Given the description of an element on the screen output the (x, y) to click on. 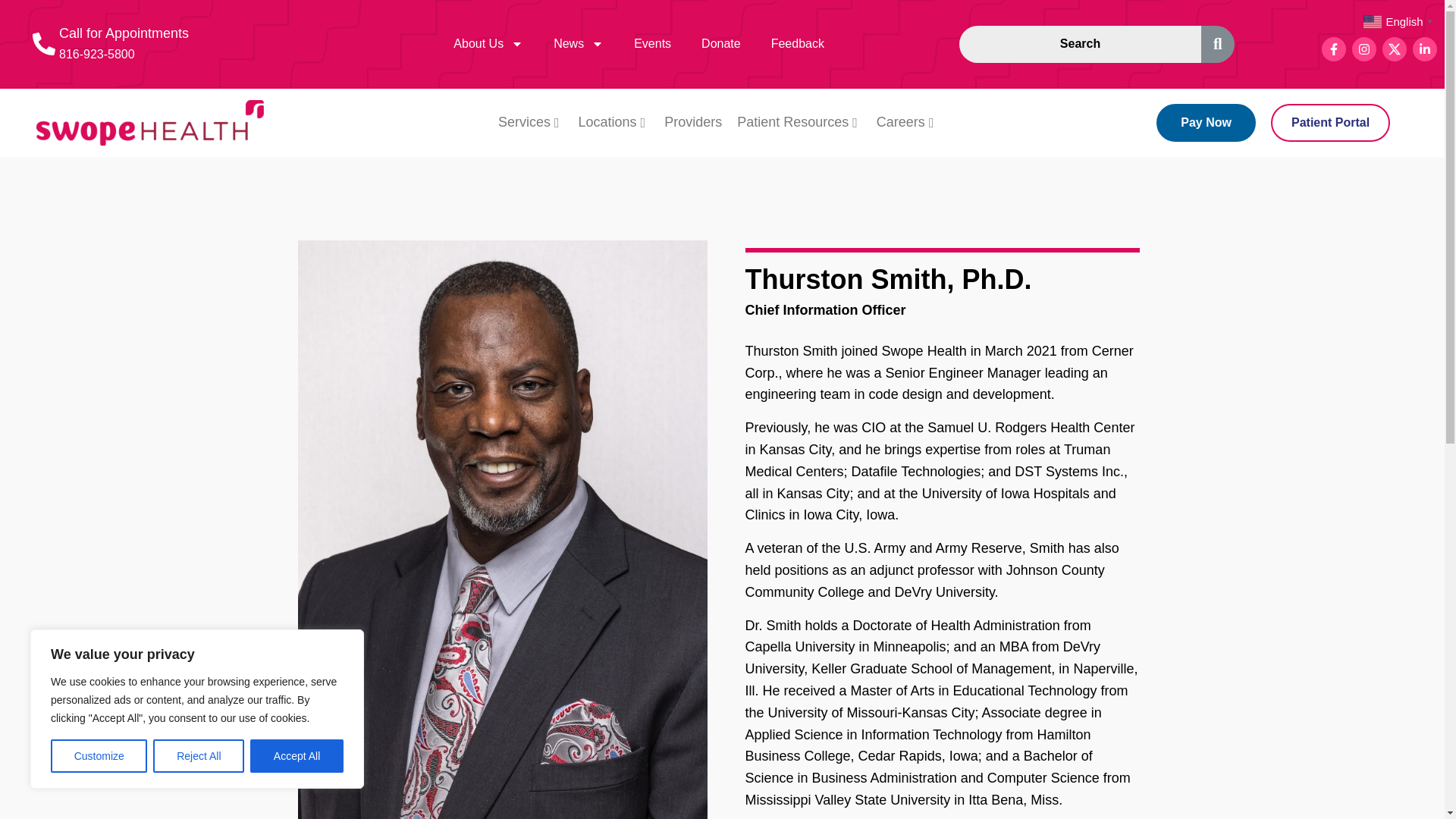
Customize (98, 756)
Call for Appointments (124, 32)
Reject All (198, 756)
Accept All (296, 756)
About Us (488, 44)
Events (651, 44)
Donate (720, 44)
Feedback (797, 44)
News (578, 44)
Search (1080, 44)
Swope logo red (149, 122)
